Given the description of an element on the screen output the (x, y) to click on. 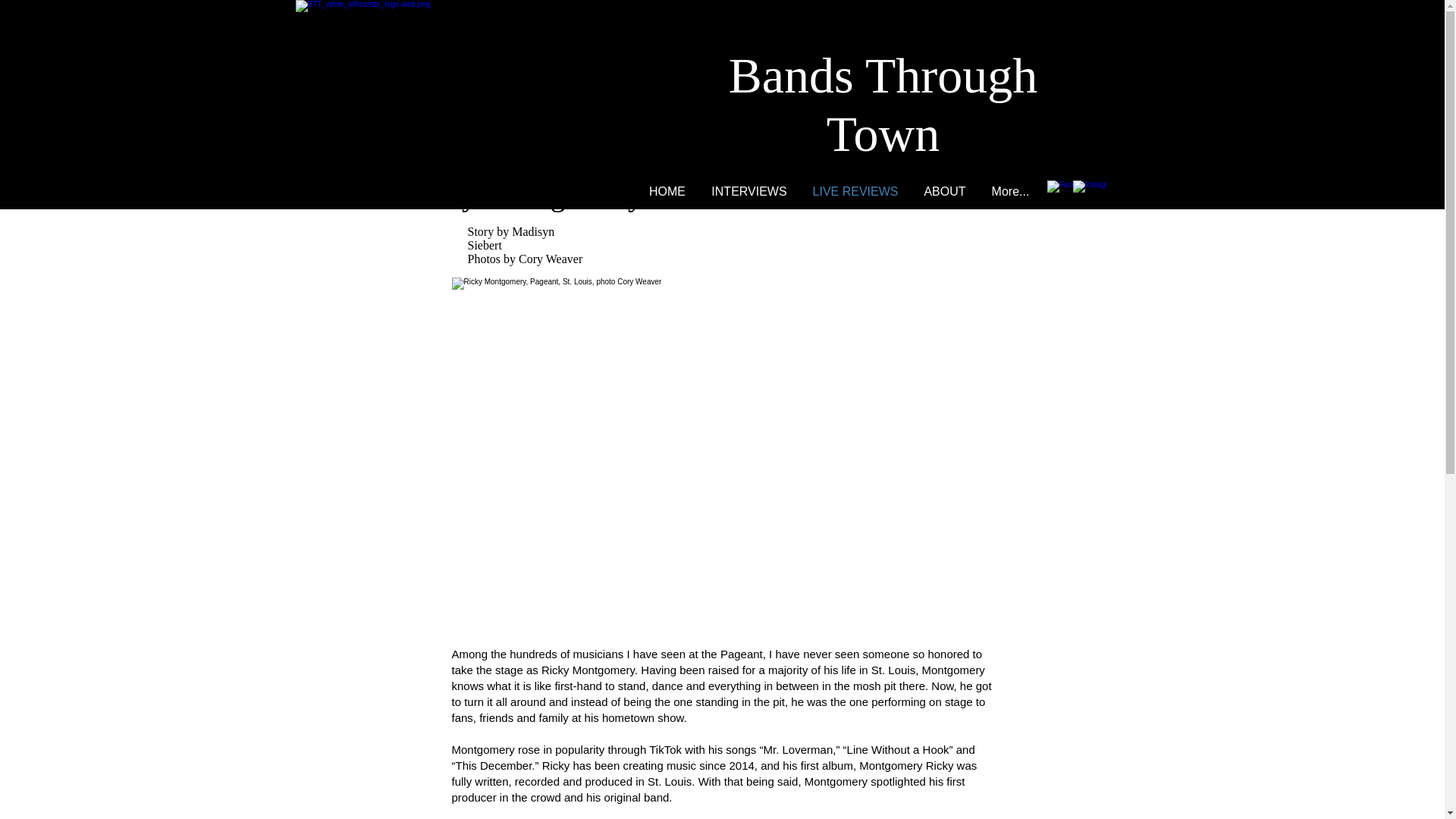
INTERVIEWS (748, 191)
HOME (666, 191)
